Given the description of an element on the screen output the (x, y) to click on. 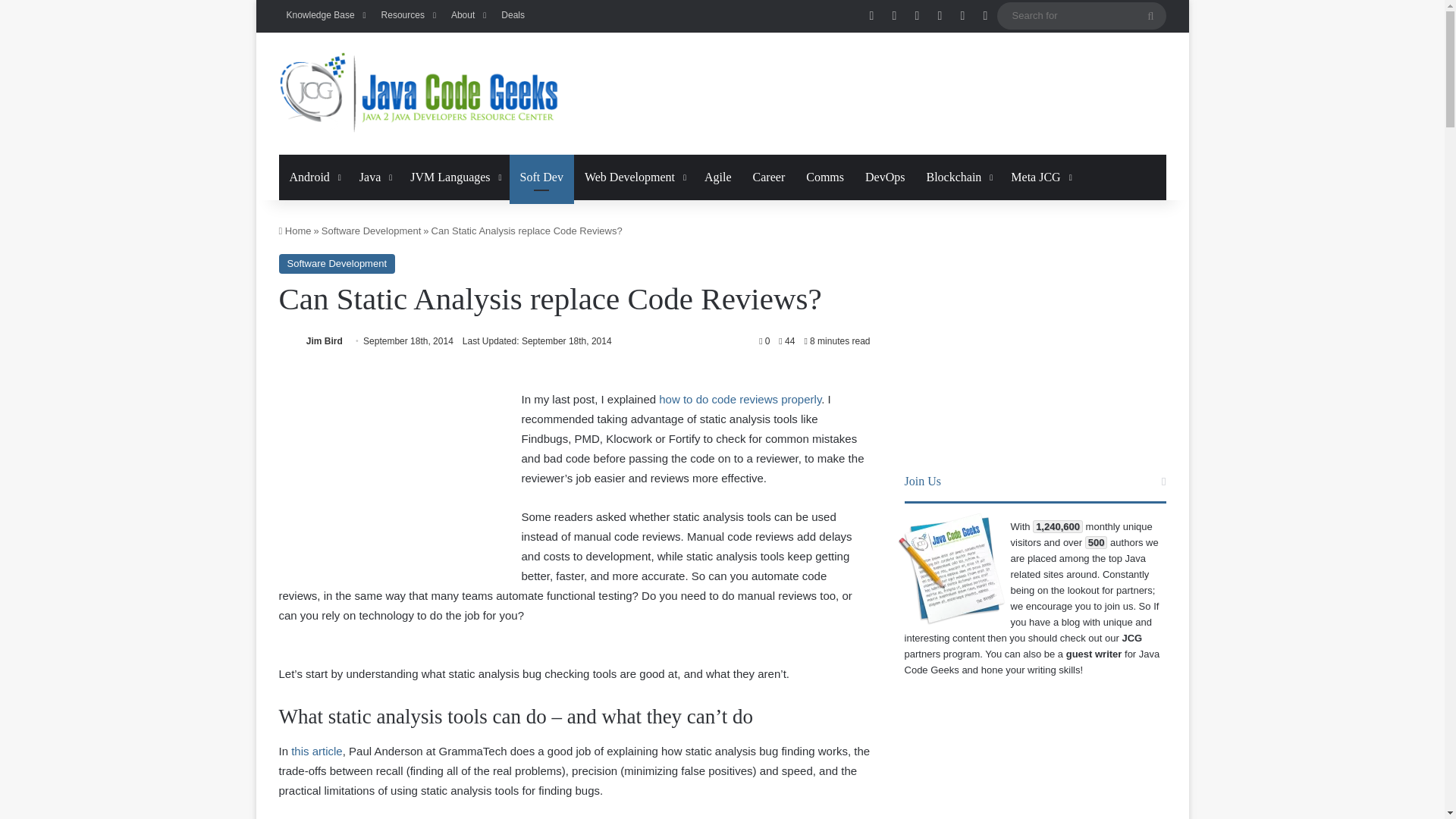
Search for (1081, 15)
Knowledge Base (326, 15)
Jim Bird (323, 340)
Java Code Geeks (419, 93)
